Given the description of an element on the screen output the (x, y) to click on. 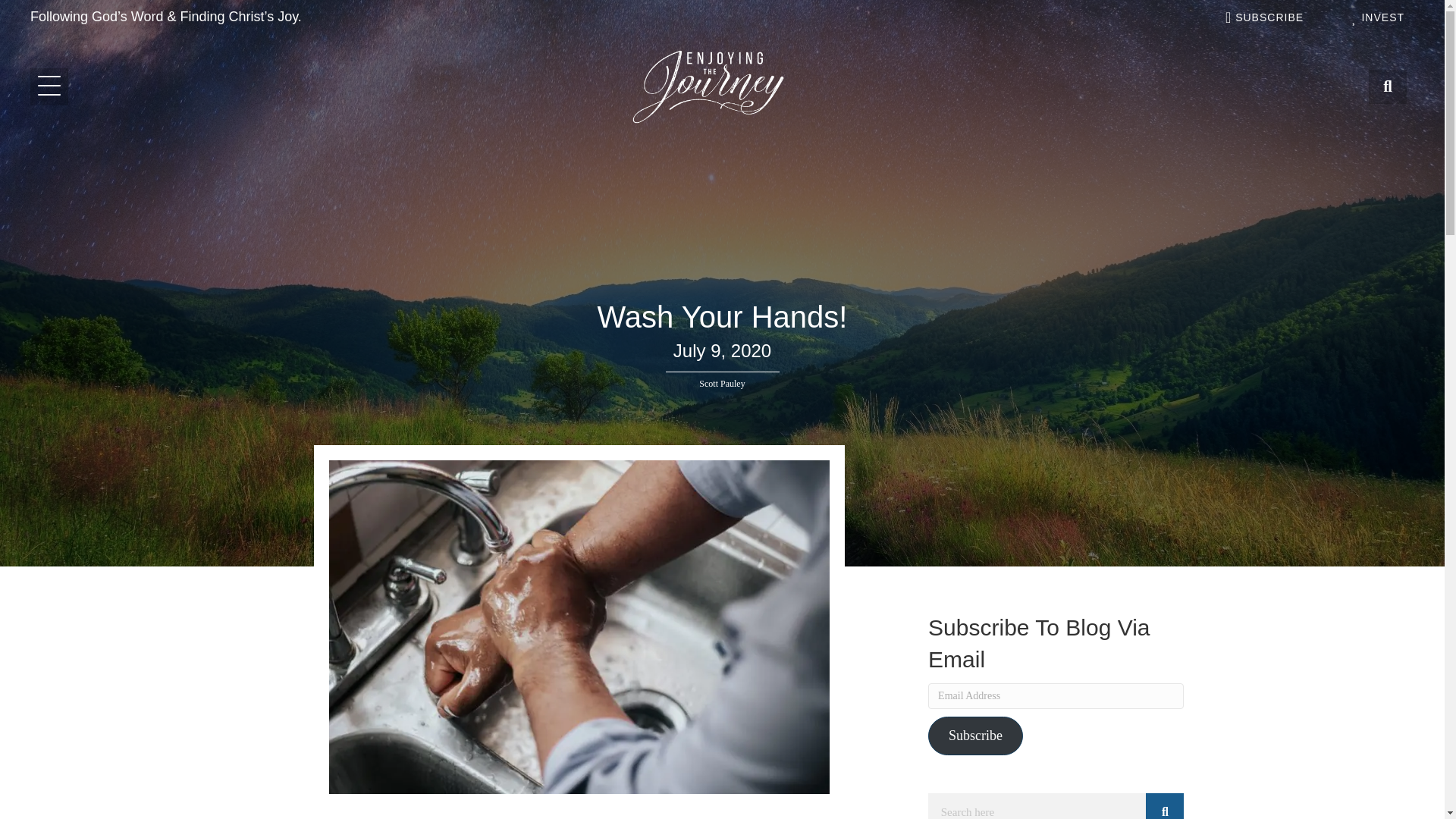
Scott Pauley (721, 383)
INVEST (1376, 17)
etj-logo (707, 86)
SUBSCRIBE (1262, 17)
Subscribe (975, 735)
Search (1036, 806)
